Given the description of an element on the screen output the (x, y) to click on. 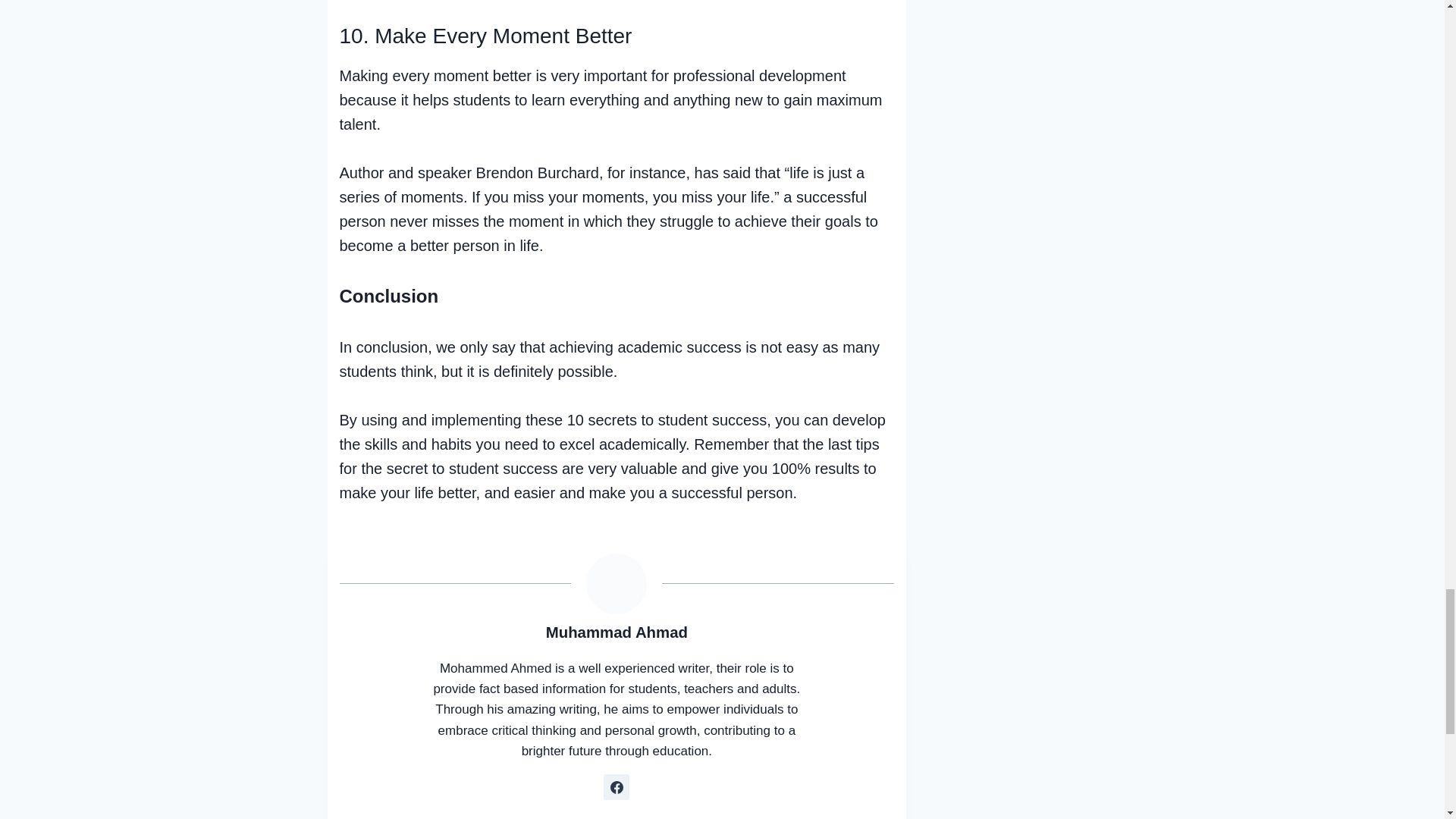
Muhammad Ahmad (616, 632)
Follow Muhammad Ahmad on Facebook (616, 786)
Posts by Muhammad Ahmad (616, 632)
